Given the description of an element on the screen output the (x, y) to click on. 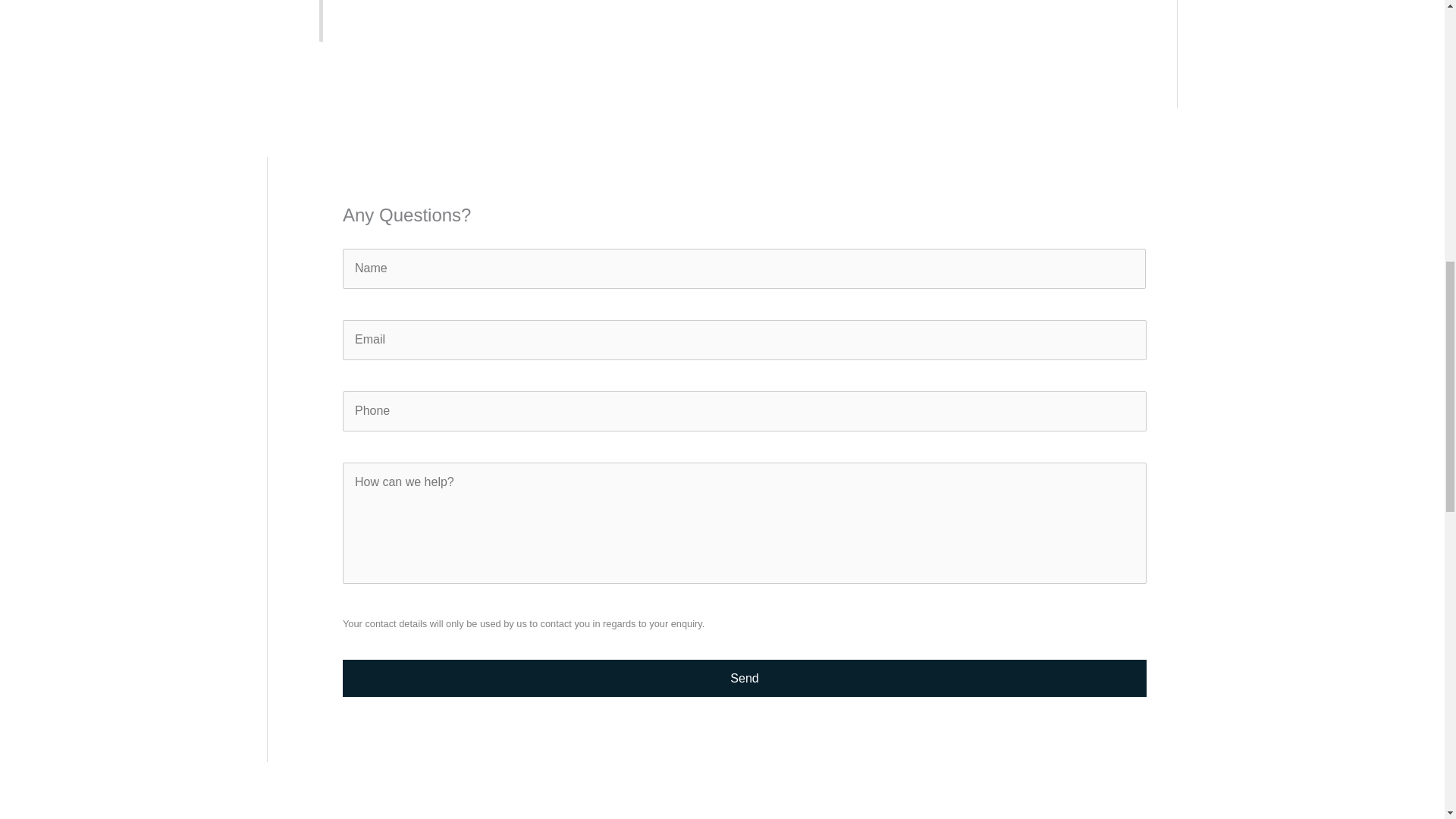
Send (744, 678)
